Given the description of an element on the screen output the (x, y) to click on. 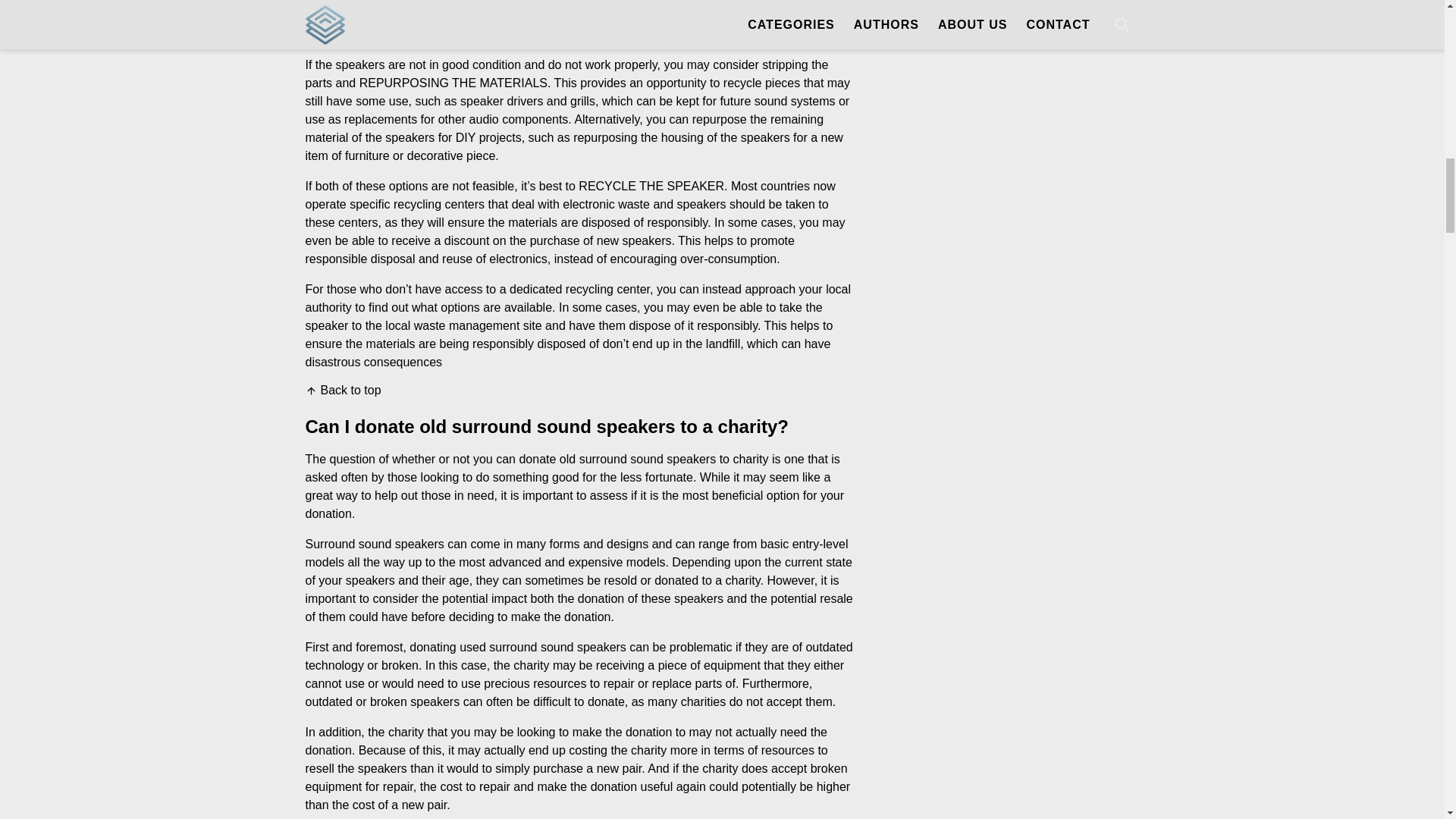
Back to top (342, 390)
